Given the description of an element on the screen output the (x, y) to click on. 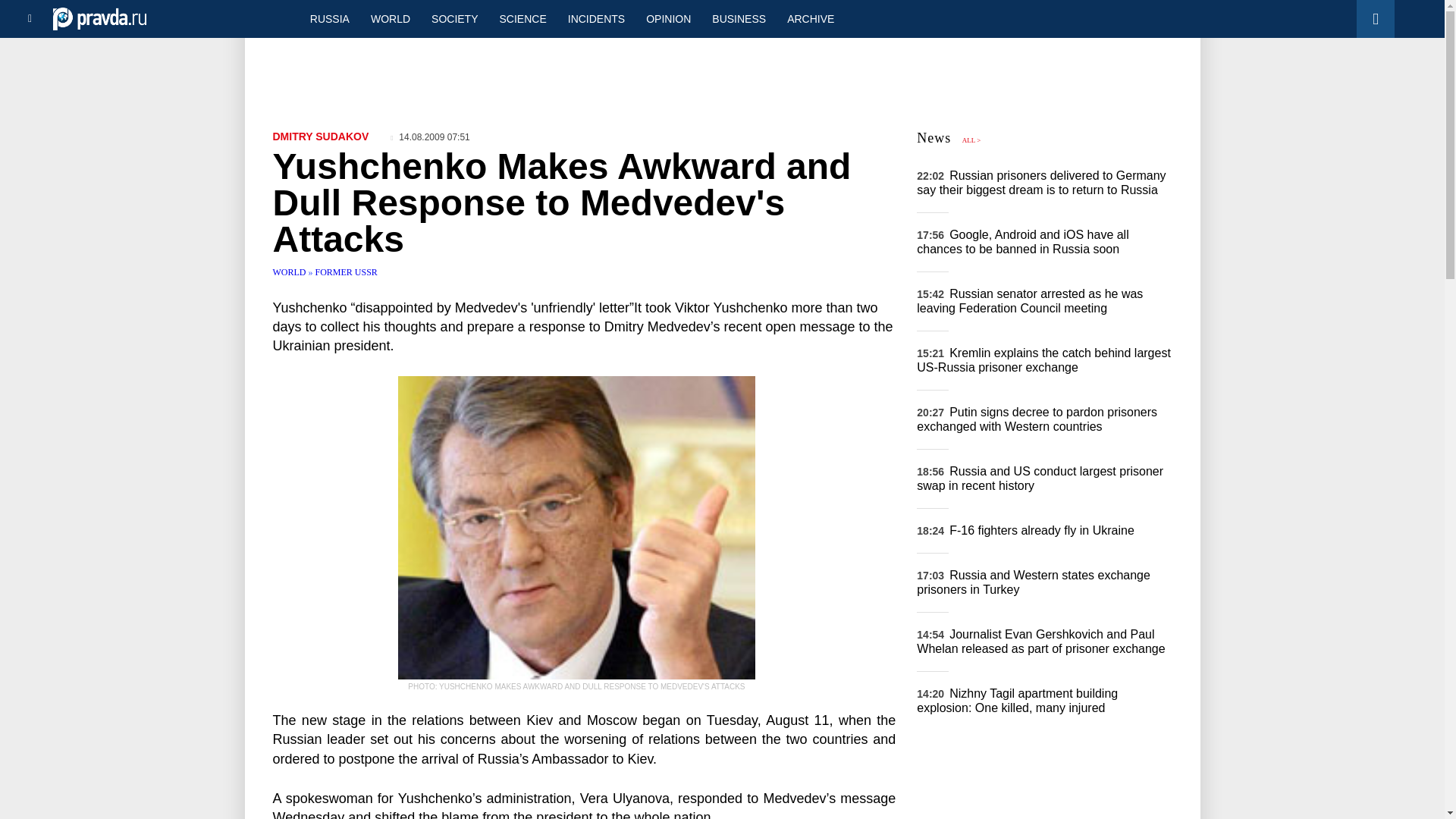
SCIENCE (523, 18)
SOCIETY (453, 18)
FORMER USSR (346, 271)
BUSINESS (738, 18)
ARCHIVE (810, 18)
News (933, 137)
INCIDENTS (595, 18)
